Given the description of an element on the screen output the (x, y) to click on. 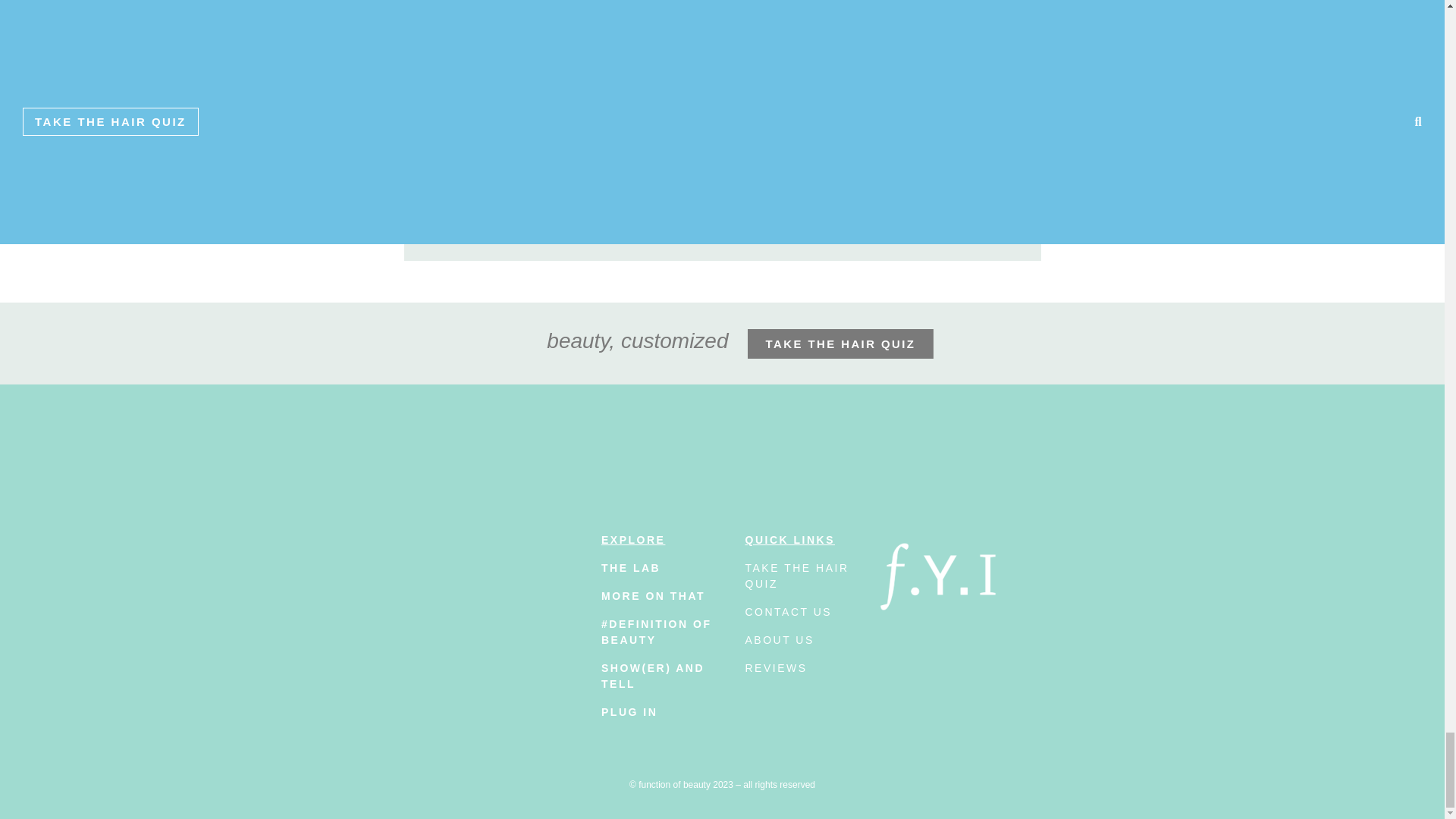
THE LAB (631, 567)
READ MORE (886, 223)
TAKE THE HAIR QUIZ (841, 343)
MORE ON THAT (652, 595)
READ MORE (675, 151)
How We Function (705, 59)
TAKE THE HAIR QUIZ (796, 575)
PLUG IN (629, 711)
READ MORE (462, 200)
Find The Best Treatment Product For Your Hair Type (496, 84)
